Given the description of an element on the screen output the (x, y) to click on. 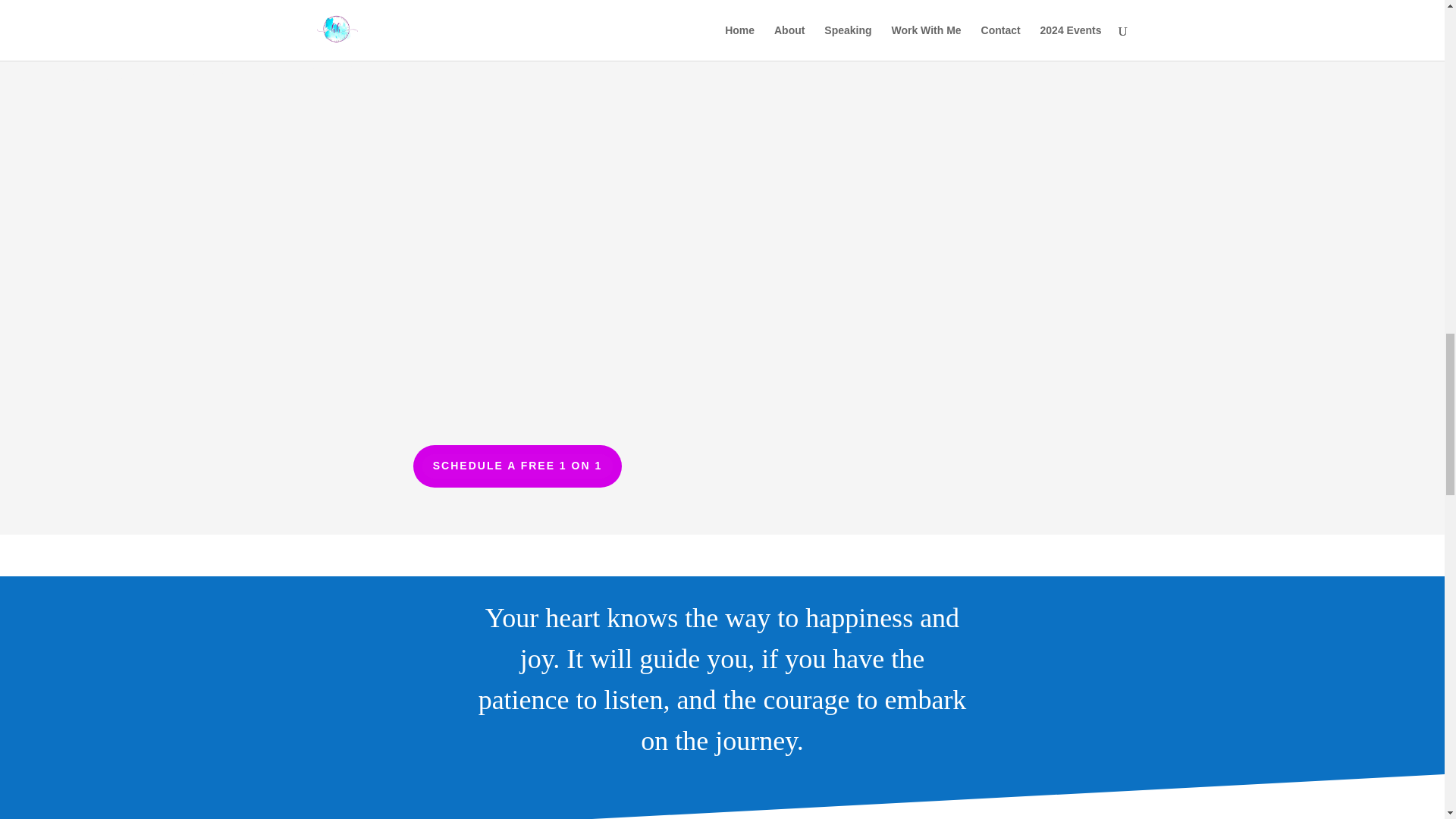
SCHEDULE A FREE 1 ON 1 (517, 466)
